Given the description of an element on the screen output the (x, y) to click on. 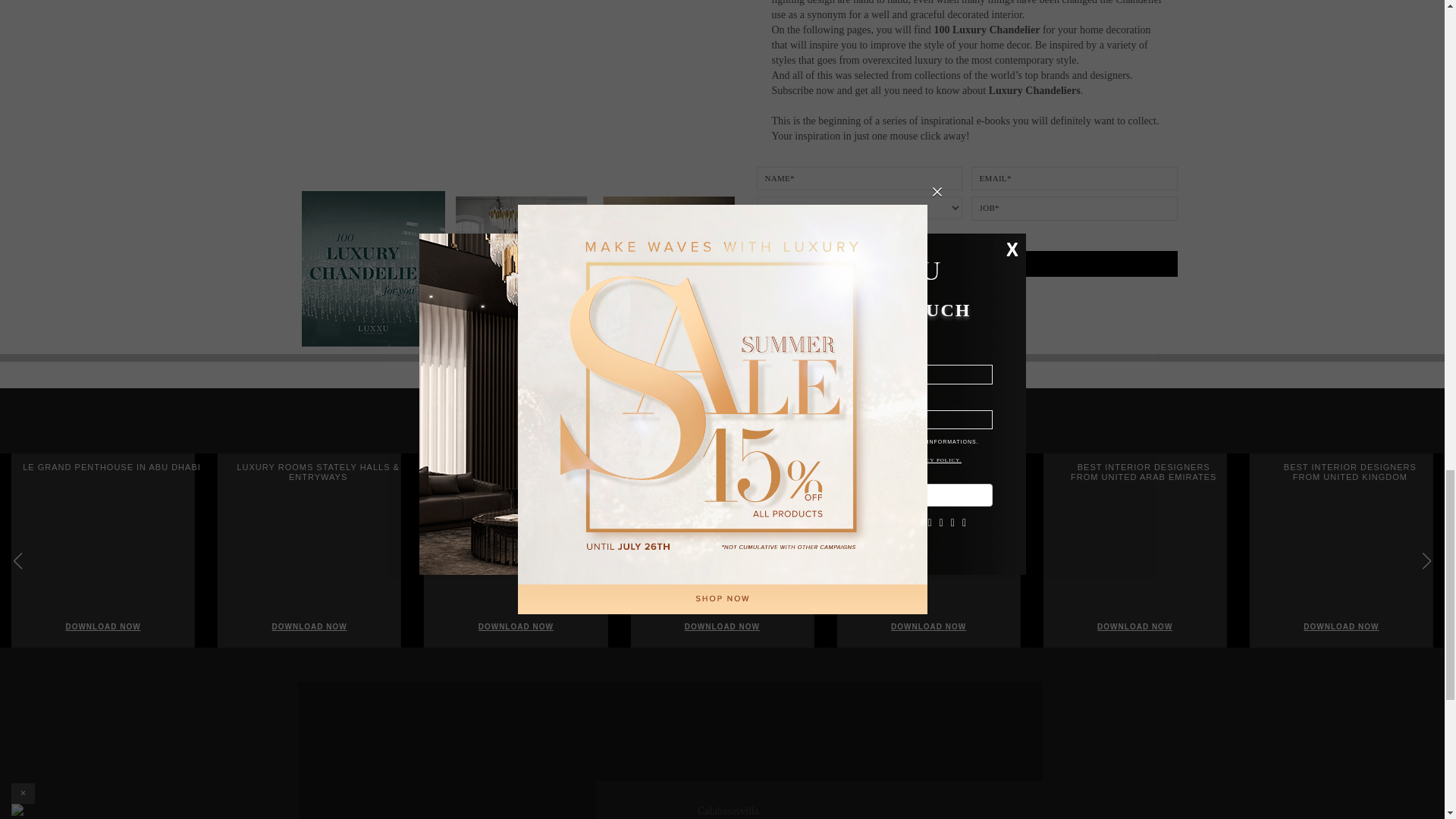
on (762, 236)
DOWNLOAD NOW (967, 263)
